Given the description of an element on the screen output the (x, y) to click on. 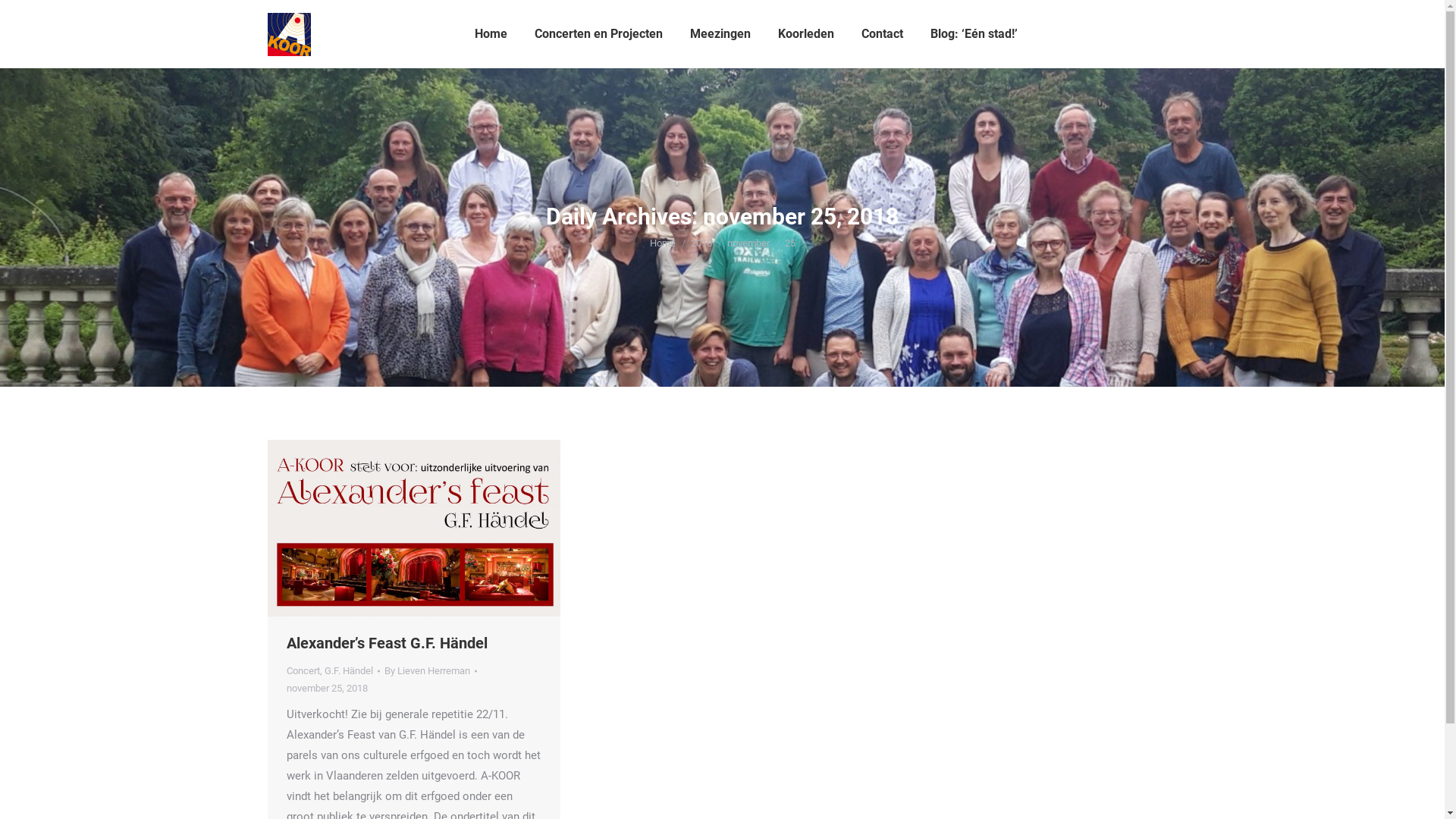
Concerten en Projecten Element type: text (597, 33)
november Element type: text (747, 242)
Meezingen Element type: text (720, 33)
Koorleden Element type: text (806, 33)
Concert Element type: text (303, 670)
Home Element type: text (661, 242)
By Lieven Herreman Element type: text (429, 670)
2018 Element type: text (700, 242)
november 25, 2018 Element type: text (326, 687)
heading website Element type: hover (412, 527)
Home Element type: text (490, 33)
Contact Element type: text (882, 33)
